Given the description of an element on the screen output the (x, y) to click on. 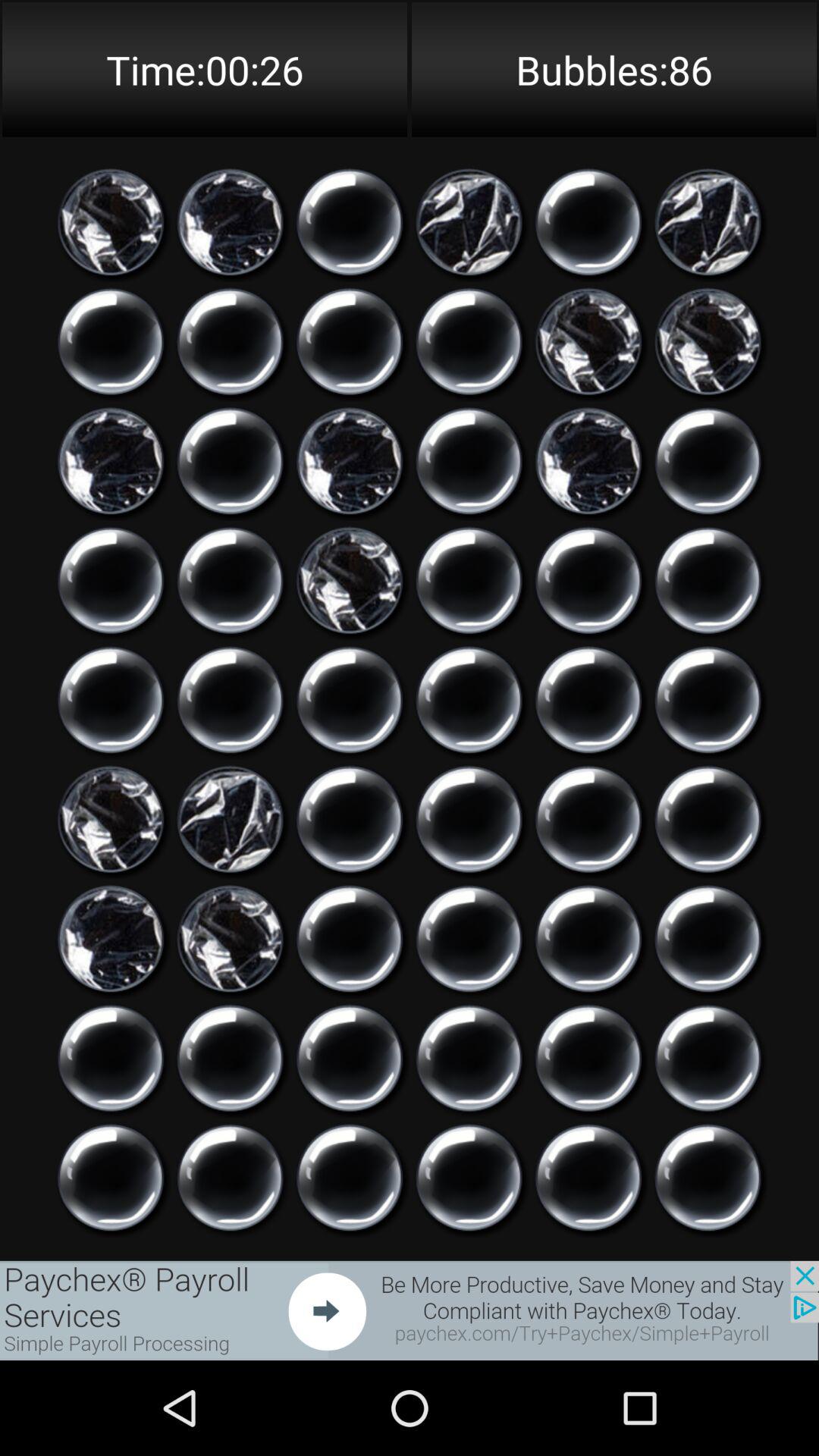
pop the bubble (349, 460)
